Given the description of an element on the screen output the (x, y) to click on. 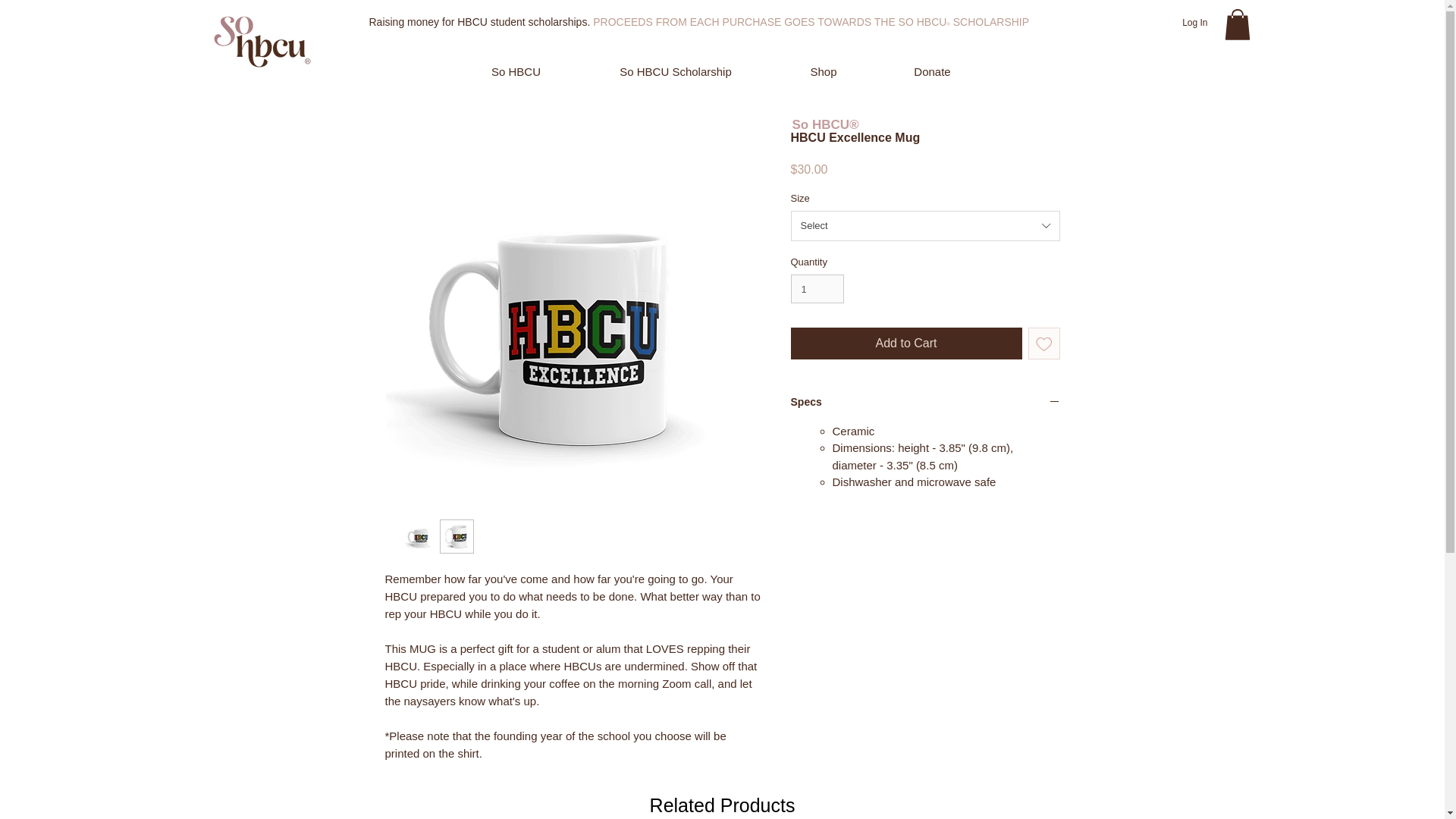
Add to Cart (906, 343)
So HBCU Scholarship (676, 71)
Donate (932, 71)
Support Our Historically Black Colleges and Universities (261, 41)
So HBCU (515, 71)
Raising money for HBCU student scholarships. (480, 21)
Log In (1194, 23)
1 (817, 288)
Specs (924, 402)
Select (924, 225)
